Given the description of an element on the screen output the (x, y) to click on. 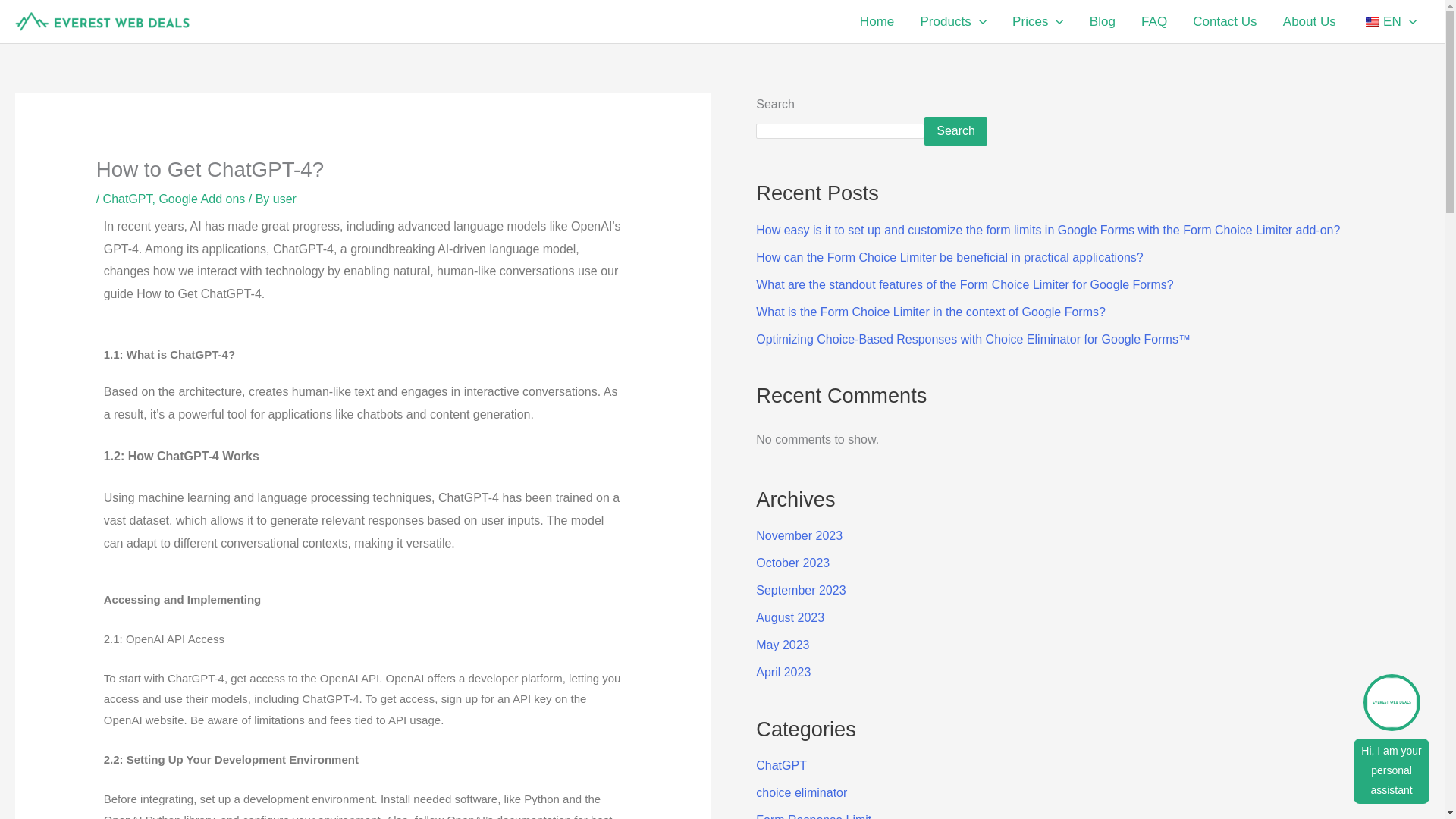
About Us (1309, 21)
Blog (1102, 21)
View all posts by user (285, 198)
FAQ (1153, 21)
EN (1389, 21)
Products (952, 21)
English (1371, 21)
Home (877, 21)
Prices (1037, 21)
Contact Us (1224, 21)
